Given the description of an element on the screen output the (x, y) to click on. 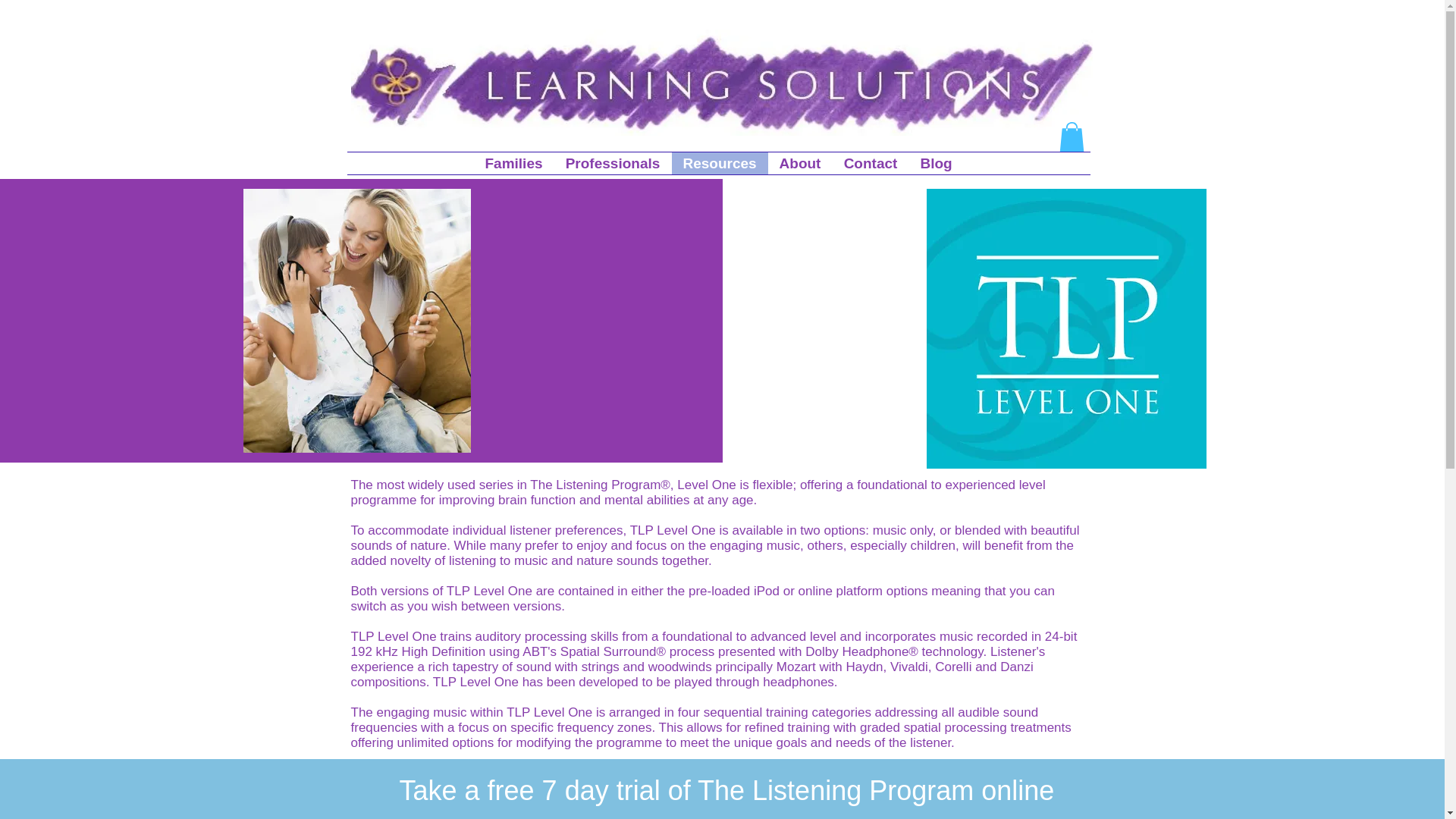
Contact (870, 163)
Professionals (612, 163)
About (799, 163)
Blog (935, 163)
Families (513, 163)
Resources (719, 163)
